Given the description of an element on the screen output the (x, y) to click on. 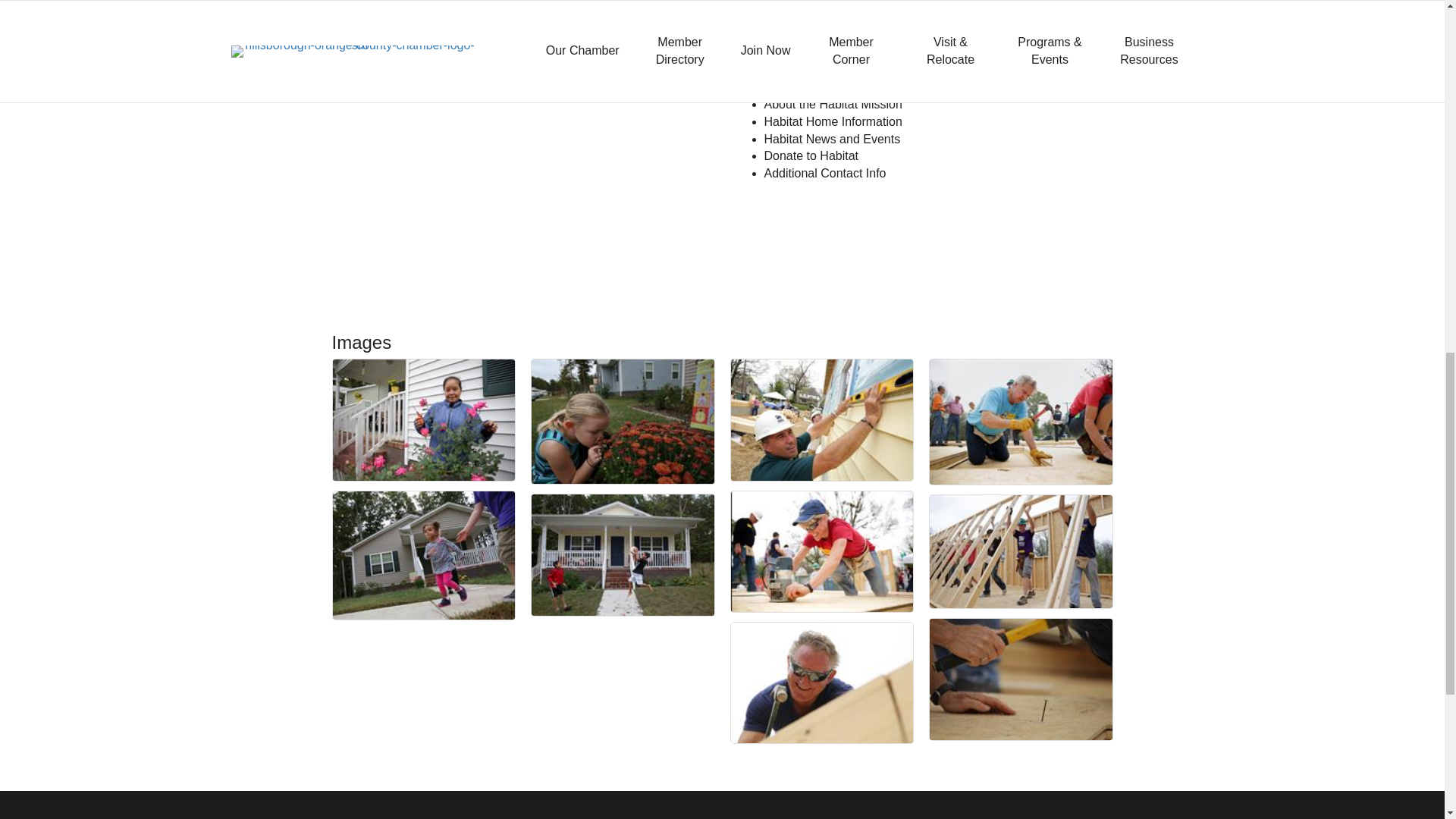
Gallery Image HABITAT.CEO.070.JPG (822, 682)
Gallery Image HABITAT.CEO.077.JPG (822, 551)
Gallery Image HABITAT.181.JPG (423, 419)
Gallery Image HABITAT.169.JPG (622, 421)
Gallery Image HABITAT.CEO.063.JPG (822, 419)
